Given the description of an element on the screen output the (x, y) to click on. 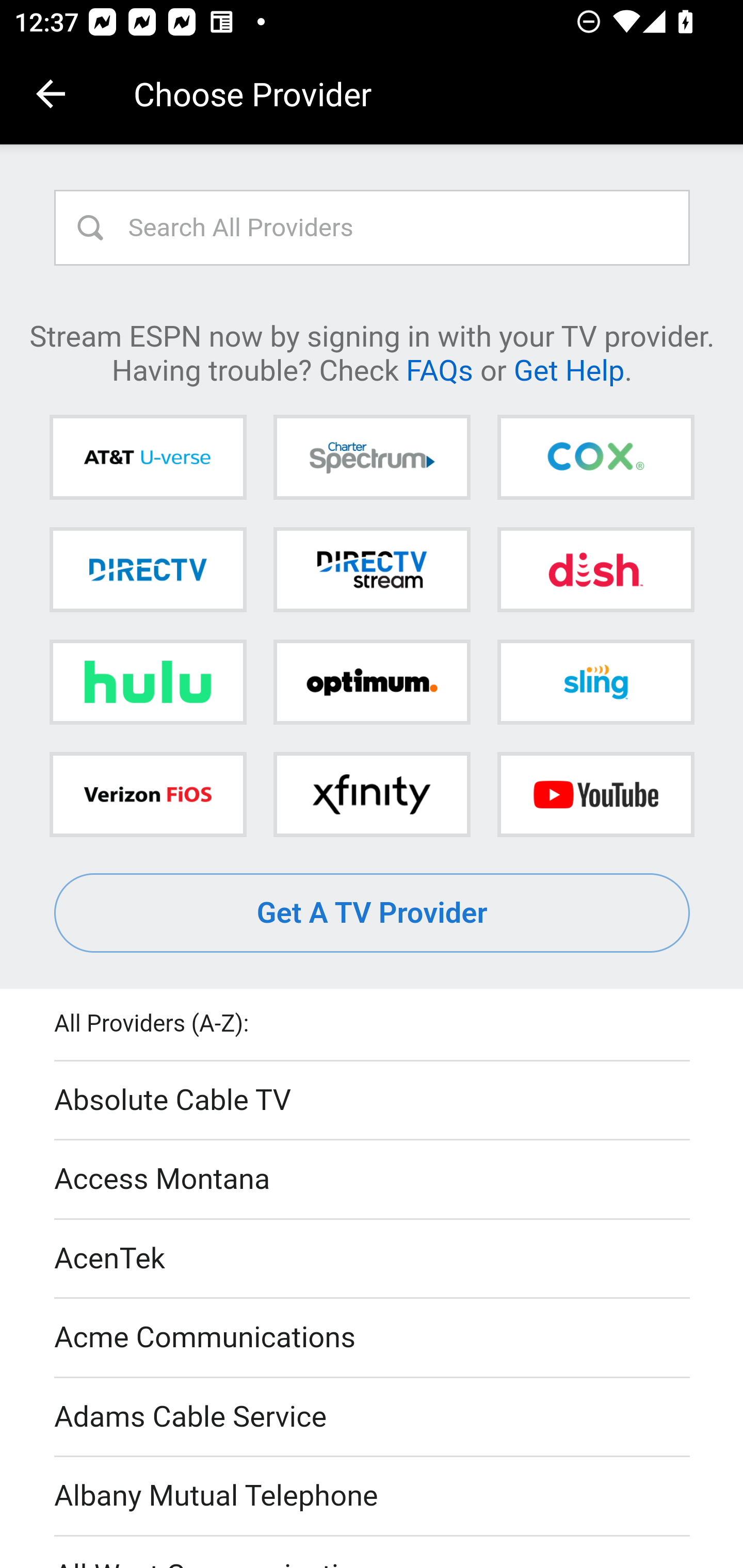
Navigate up (50, 93)
FAQs (438, 369)
Get Help (569, 369)
AT&T U-verse (147, 457)
Charter Spectrum (371, 457)
Cox (595, 457)
DIRECTV (147, 568)
DIRECTV STREAM (371, 568)
DISH (595, 568)
Hulu (147, 681)
Optimum (371, 681)
Sling TV (595, 681)
Verizon FiOS (147, 793)
Xfinity (371, 793)
YouTube TV (595, 793)
Get A TV Provider (372, 912)
Absolute Cable TV (372, 1100)
Access Montana (372, 1178)
AcenTek (372, 1258)
Acme Communications (372, 1338)
Adams Cable Service (372, 1417)
Albany Mutual Telephone (372, 1497)
